Given the description of an element on the screen output the (x, y) to click on. 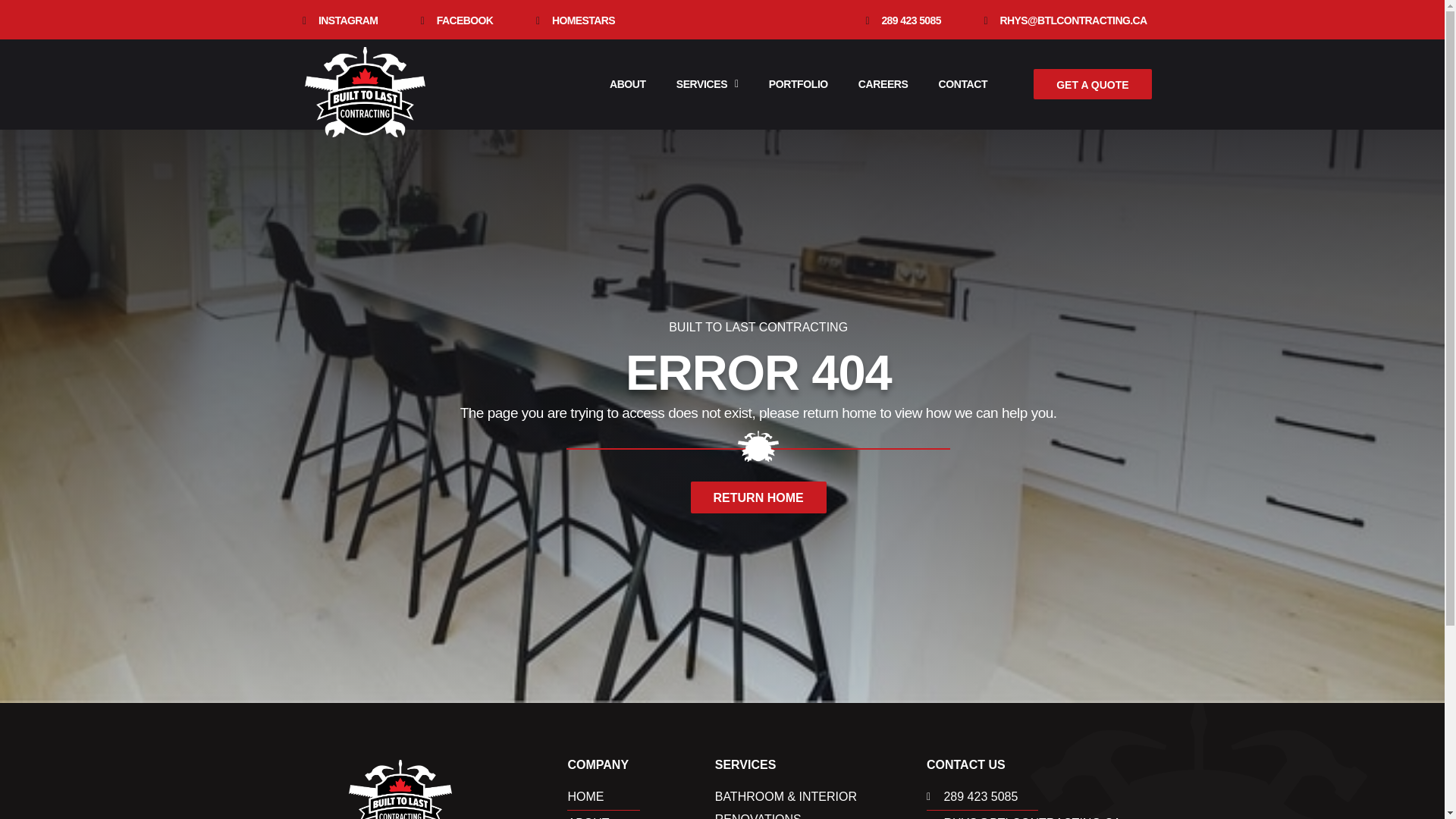
INSTAGRAM (337, 21)
SERVICES (707, 83)
FACEBOOK (453, 21)
ABOUT (640, 815)
GET A QUOTE (1092, 83)
ABOUT (627, 83)
RETURN HOME (758, 497)
CONTACT (963, 83)
CAREERS (883, 83)
PORTFOLIO (798, 83)
